Given the description of an element on the screen output the (x, y) to click on. 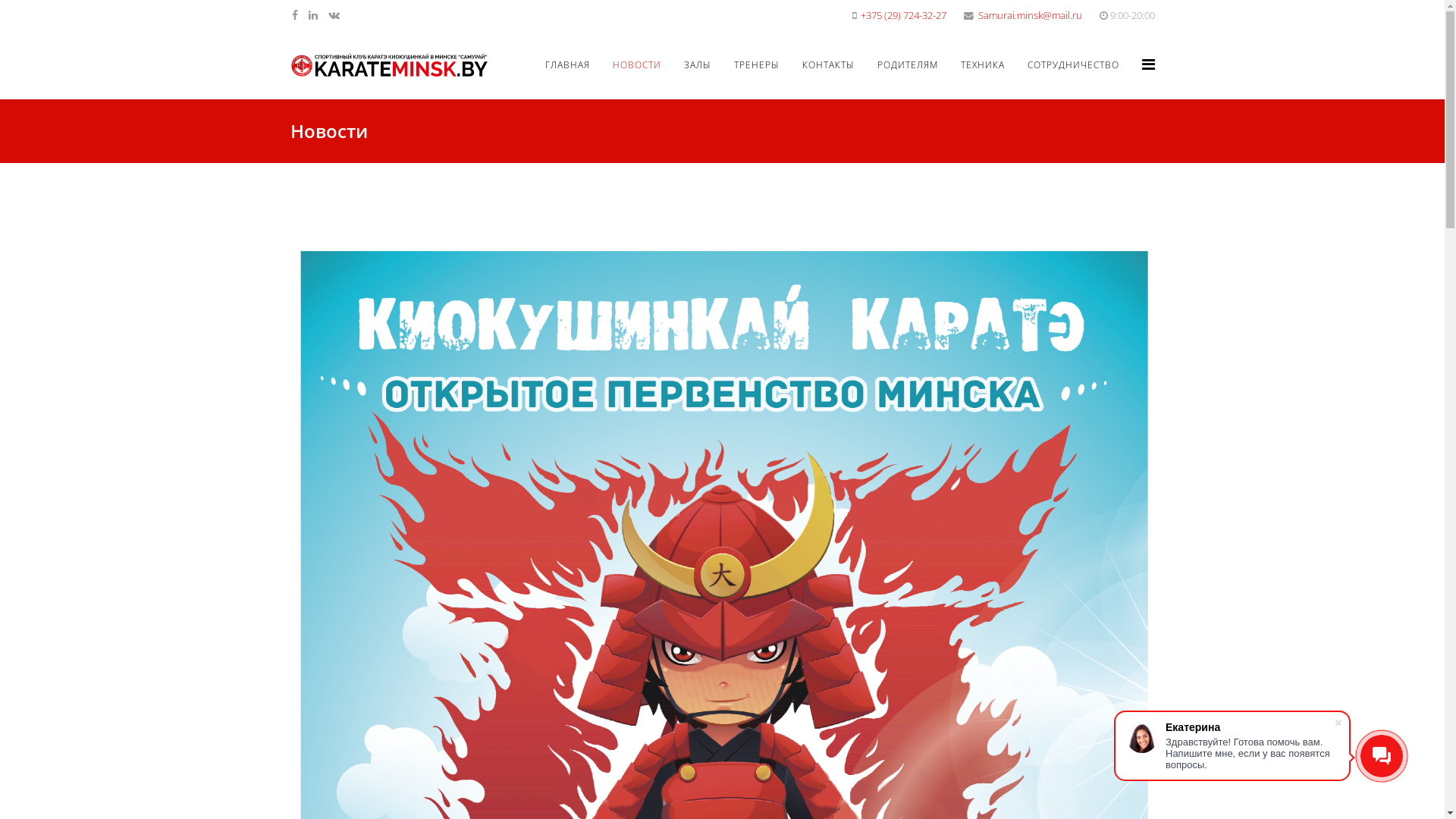
Samurai.minsk@mail.ru Element type: text (1030, 15)
+375 (29) 724-32-27 Element type: text (902, 15)
